Given the description of an element on the screen output the (x, y) to click on. 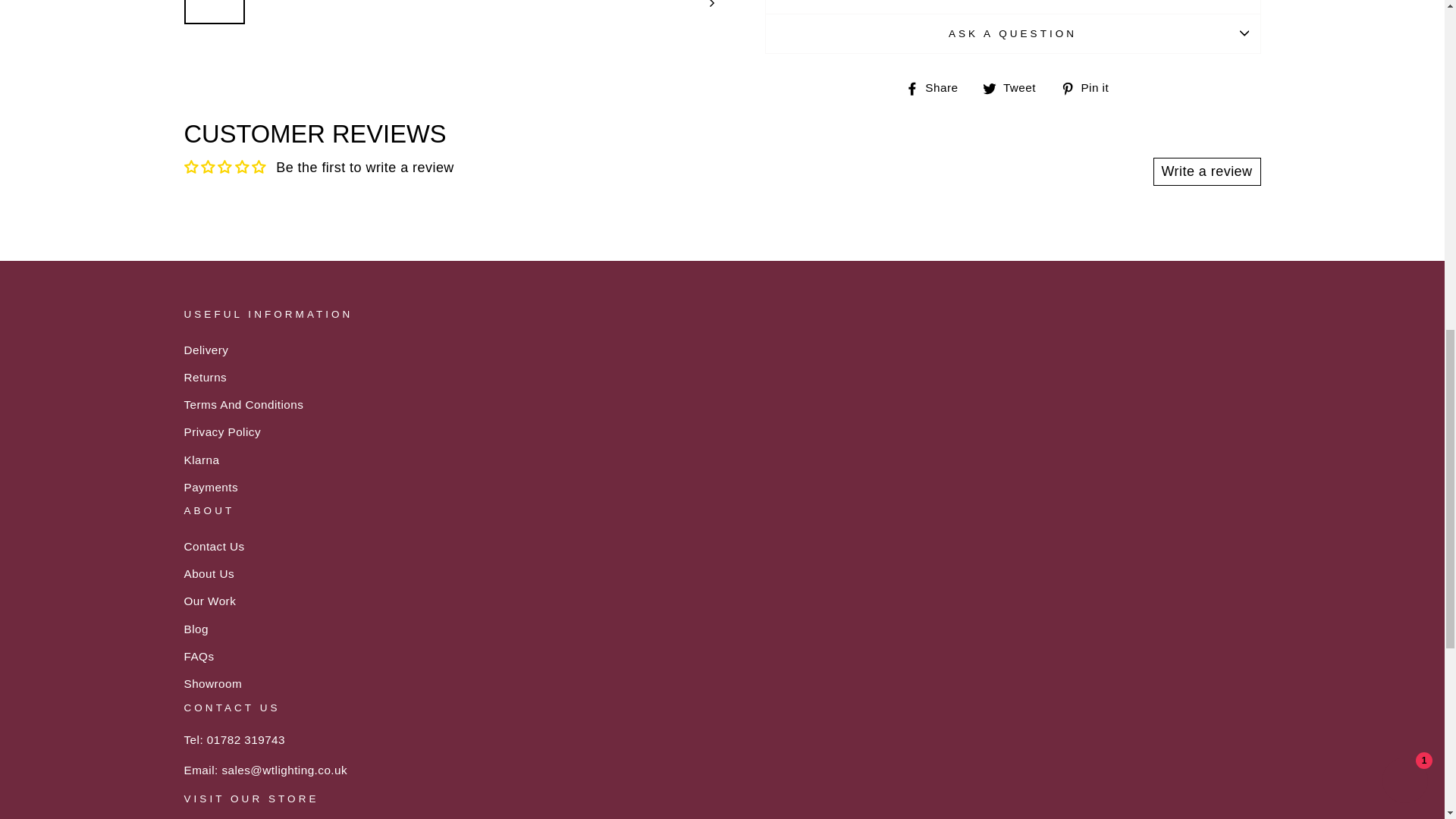
Tweet on Twitter (1014, 87)
Share on Facebook (937, 87)
Pin on Pinterest (1090, 87)
